Given the description of an element on the screen output the (x, y) to click on. 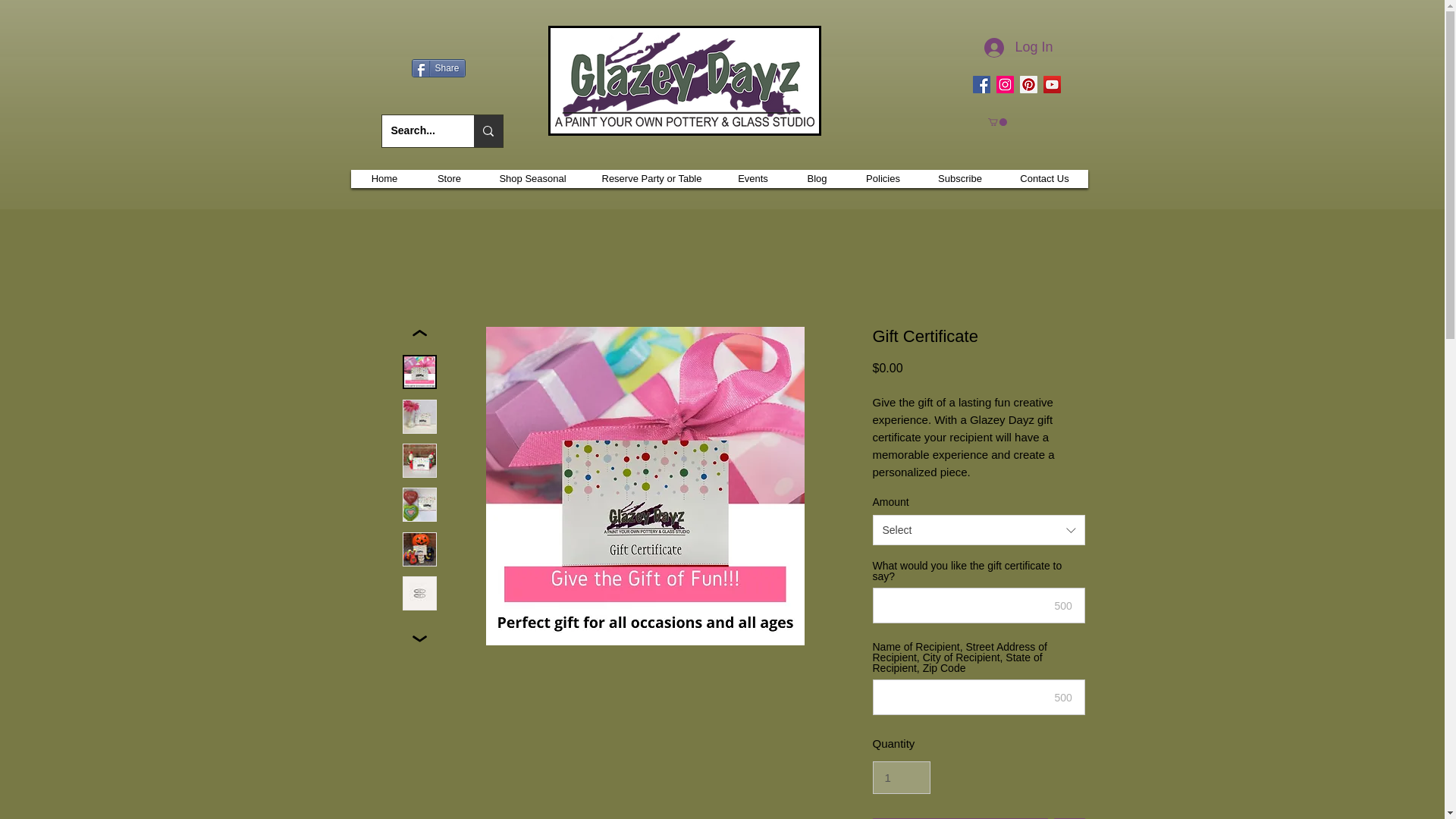
Reserve Party or Table (652, 178)
Policies (882, 178)
Home (384, 178)
Contact Us (1044, 178)
Events (752, 178)
Share (437, 67)
Blog (816, 178)
1 (901, 777)
Log In (1018, 47)
Share (437, 67)
Subscribe (959, 178)
